Given the description of an element on the screen output the (x, y) to click on. 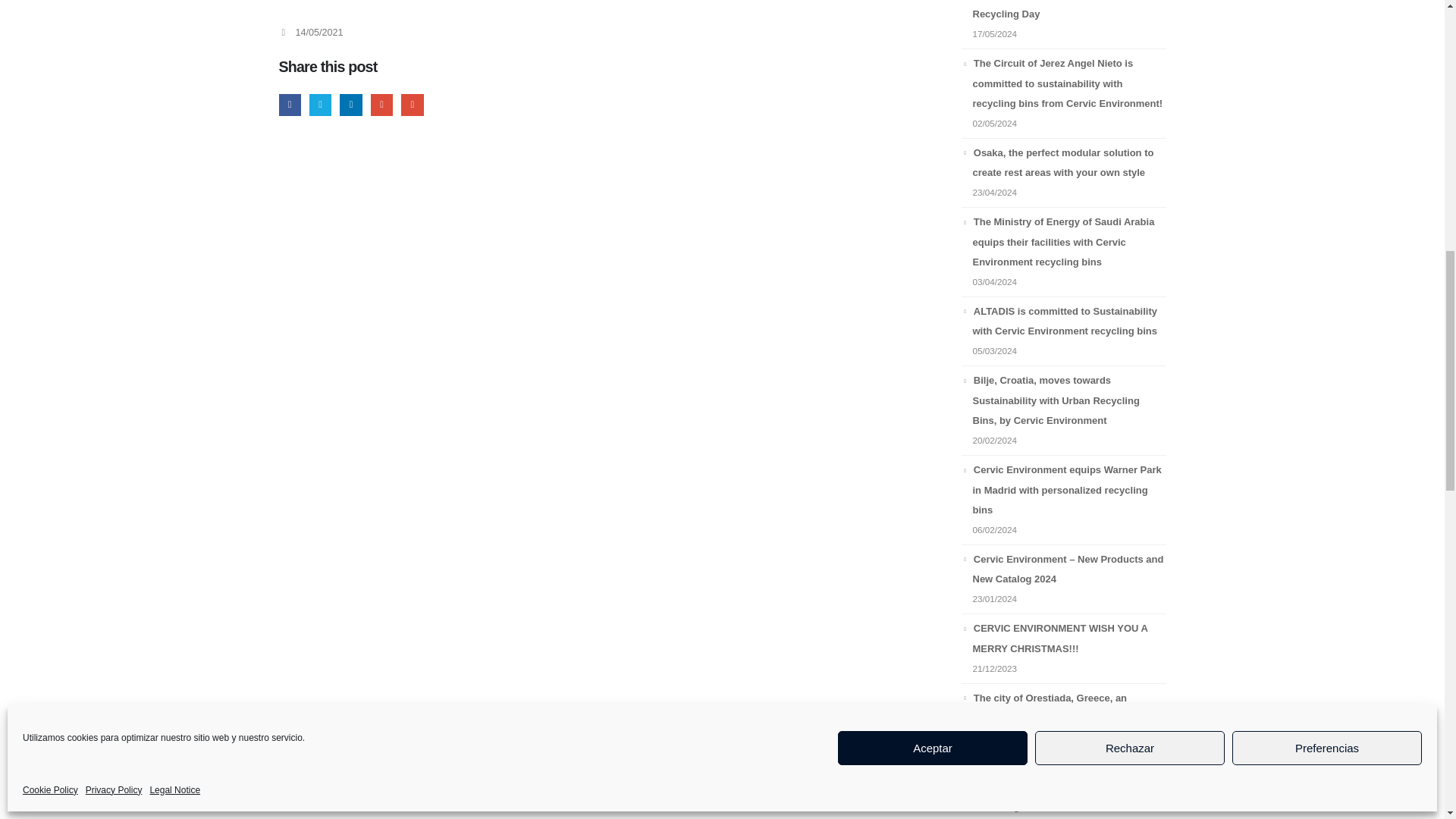
Aceptar (932, 338)
Legal Notice (174, 380)
Privacy Policy (113, 380)
Cookie Policy (50, 380)
Rechazar (1129, 338)
Preferencias (1326, 338)
